Given the description of an element on the screen output the (x, y) to click on. 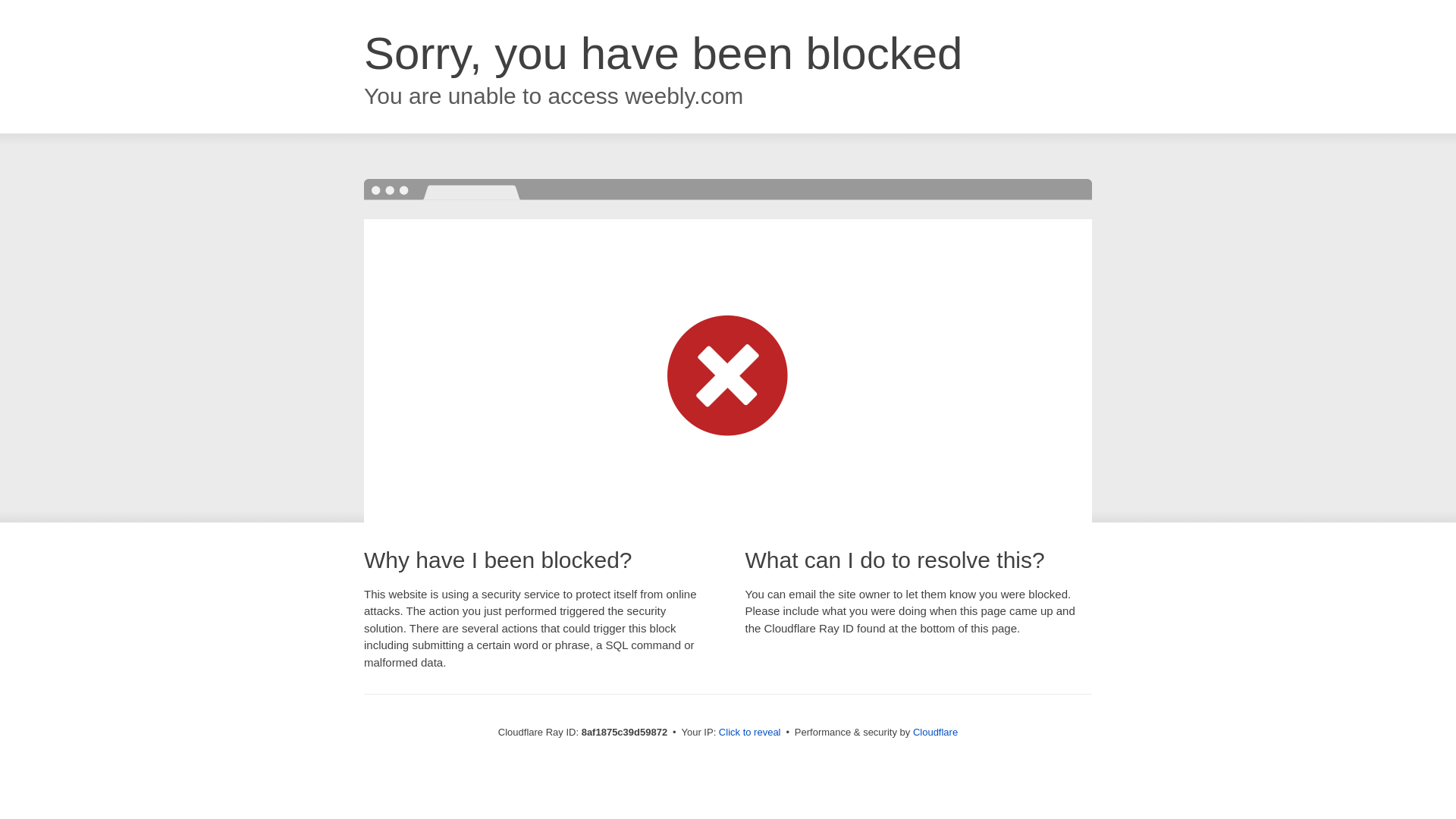
Cloudflare (935, 731)
Click to reveal (749, 732)
